Given the description of an element on the screen output the (x, y) to click on. 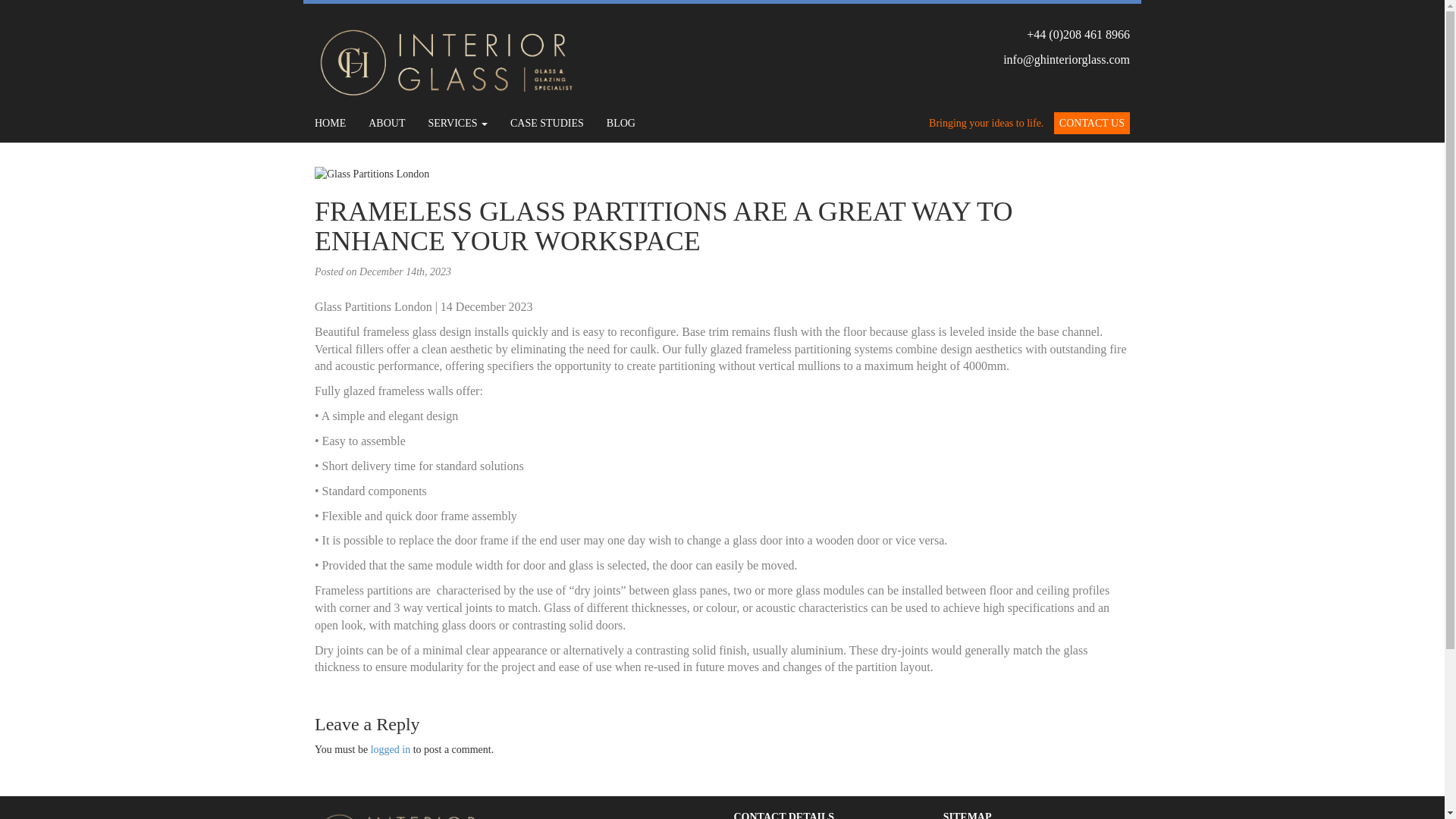
CONTACT US (1091, 123)
SERVICES (457, 123)
BLOG (620, 123)
GH Interior Glass (446, 60)
CASE STUDIES (547, 123)
ABOUT (386, 123)
HOME (329, 123)
